Given the description of an element on the screen output the (x, y) to click on. 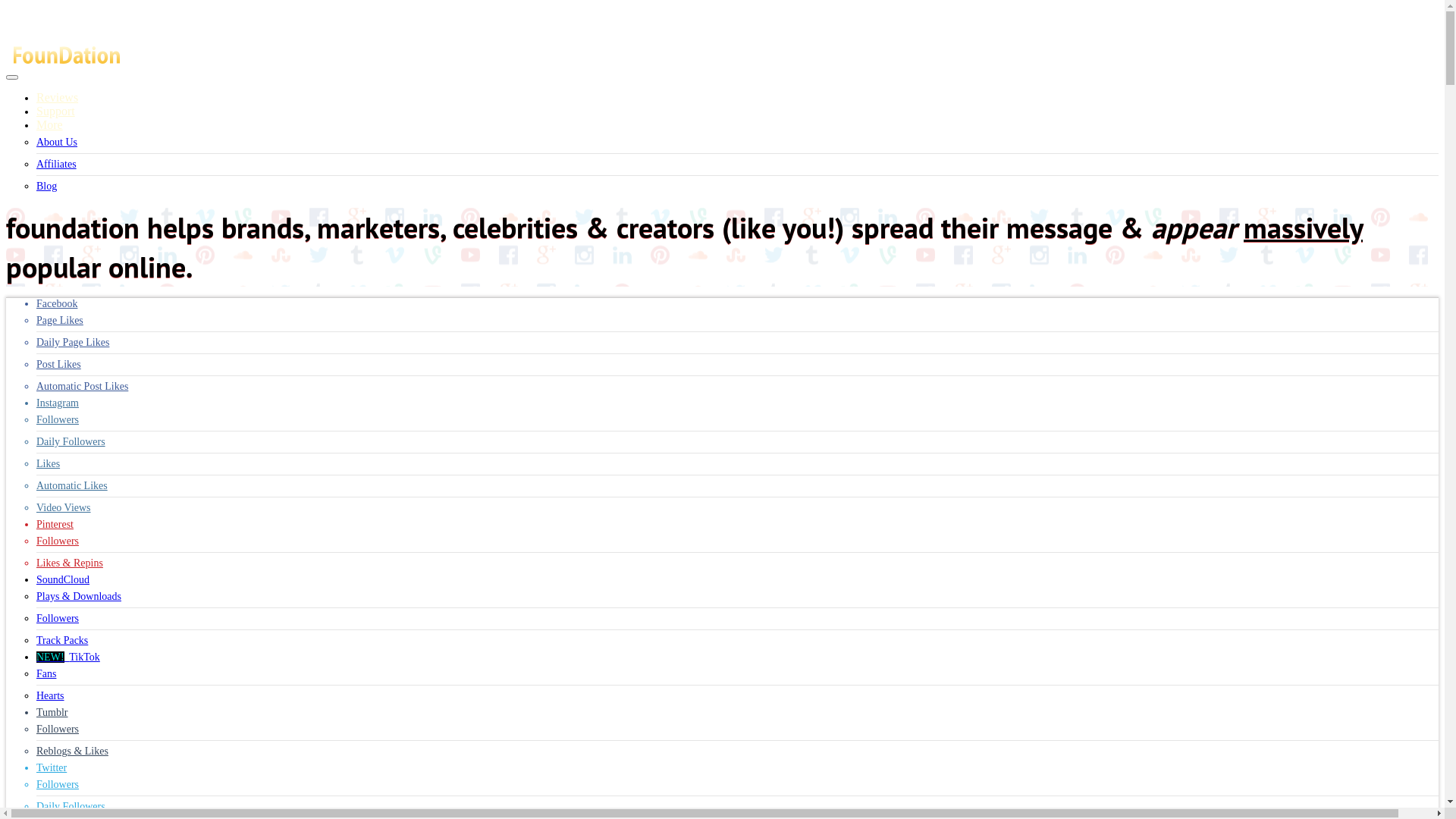
Video Views Element type: text (63, 507)
Twitter Element type: text (51, 767)
Track Packs Element type: text (61, 640)
Post Likes Element type: text (58, 364)
Daily Followers Element type: text (70, 441)
Followers Element type: text (57, 419)
Pinterest Element type: text (54, 524)
More Element type: text (49, 124)
Fans Element type: text (46, 673)
Likes & Repins Element type: text (69, 562)
Page Likes Element type: text (59, 320)
Affiliates Element type: text (56, 163)
Likes Element type: text (47, 463)
Support Element type: text (55, 110)
Reviews Element type: text (57, 97)
About Us Element type: text (56, 141)
Followers Element type: text (57, 618)
Daily Followers Element type: text (70, 806)
SoundCloud Element type: text (62, 579)
Tumblr Element type: text (52, 712)
Followers Element type: text (57, 784)
NEW!  TikTok Element type: text (68, 656)
Daily Page Likes Element type: text (72, 342)
Reblogs & Likes Element type: text (72, 750)
Facebook Element type: text (56, 303)
Automatic Likes Element type: text (71, 485)
Hearts Element type: text (50, 695)
Followers Element type: text (57, 728)
Plays & Downloads Element type: text (78, 596)
Followers Element type: text (57, 540)
Blog Element type: text (46, 185)
foundation Element type: hover (66, 54)
foundation Element type: hover (66, 61)
Automatic Post Likes Element type: text (82, 386)
Instagram Element type: text (57, 402)
